Given the description of an element on the screen output the (x, y) to click on. 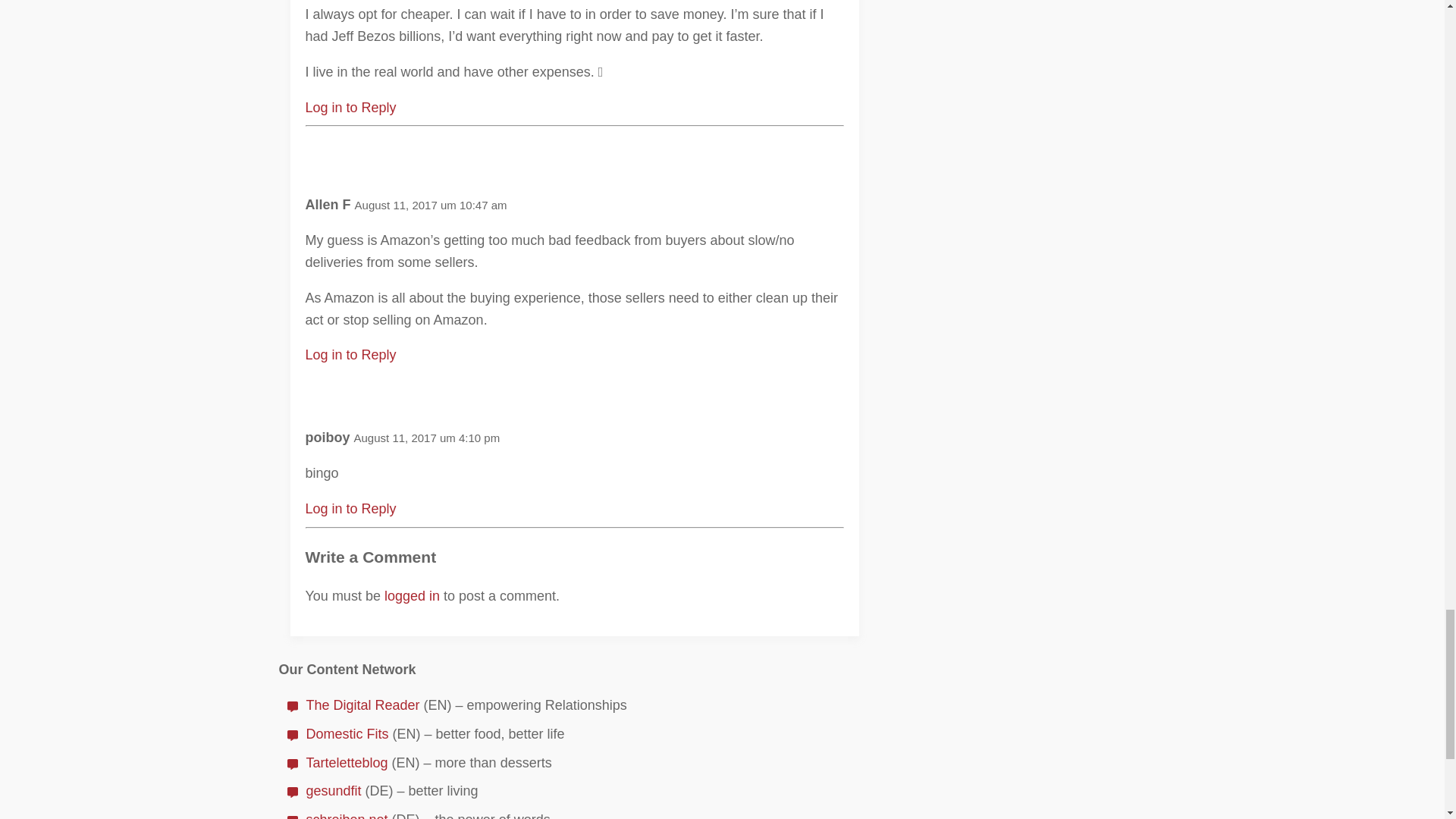
Log in to Reply (350, 508)
Log in to Reply (350, 107)
Log in to Reply (350, 354)
logged in (411, 595)
